Given the description of an element on the screen output the (x, y) to click on. 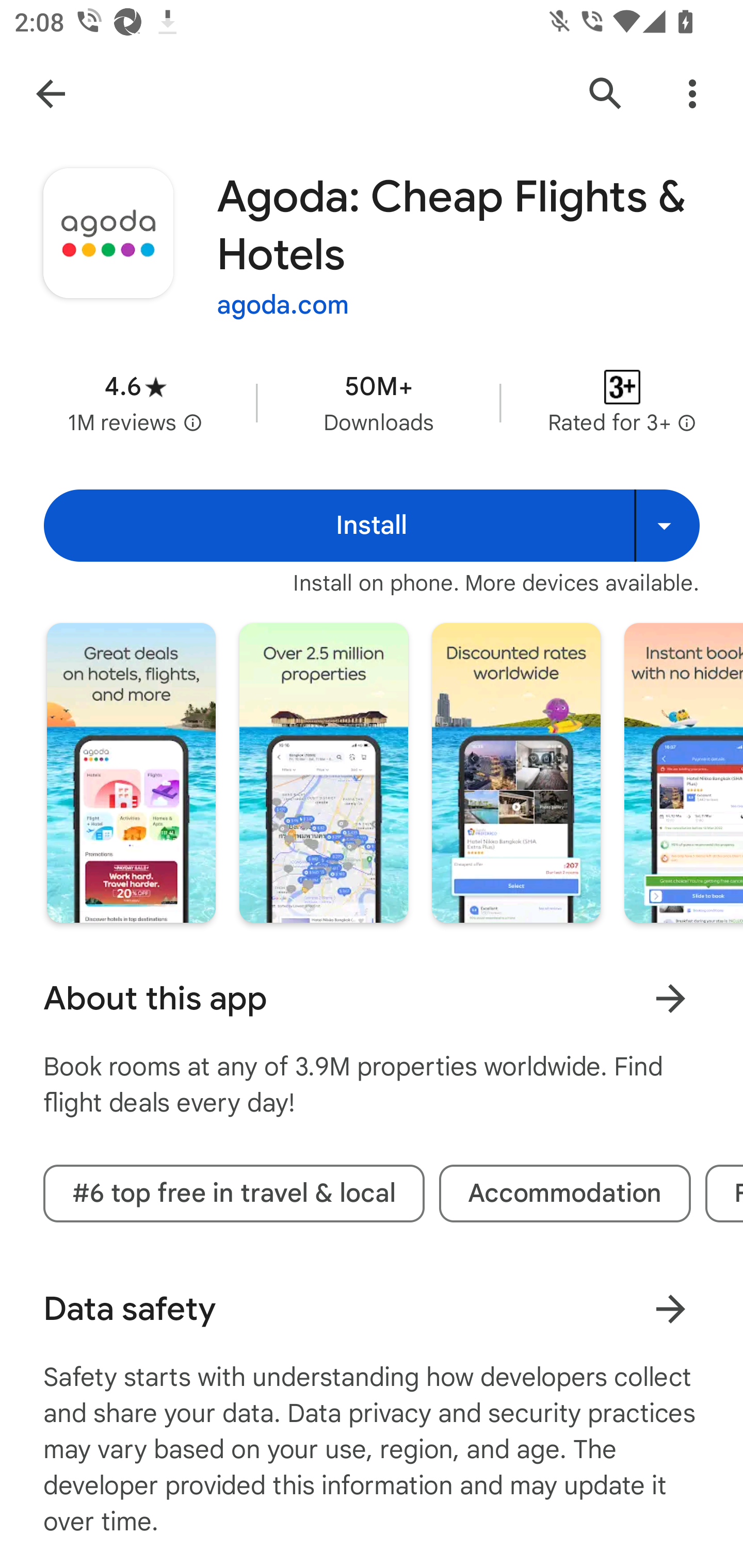
Navigate up (50, 93)
Search Google Play (605, 93)
More Options (692, 93)
agoda.com (282, 304)
Average rating 4.6 stars in 1 million reviews (135, 402)
Content rating Rated for 3+ (622, 402)
Install Install Install on more devices (371, 525)
Install on more devices (667, 525)
Screenshot "1" of "8" (130, 771)
Screenshot "2" of "8" (323, 771)
Screenshot "3" of "8" (515, 771)
Screenshot "4" of "8" (683, 771)
About this app Learn more About this app (371, 998)
Learn more About this app (670, 997)
#6 top free in travel & local tag (233, 1193)
Accommodation tag (564, 1193)
Data safety Learn more about data safety (371, 1309)
Learn more about data safety (670, 1308)
